Given the description of an element on the screen output the (x, y) to click on. 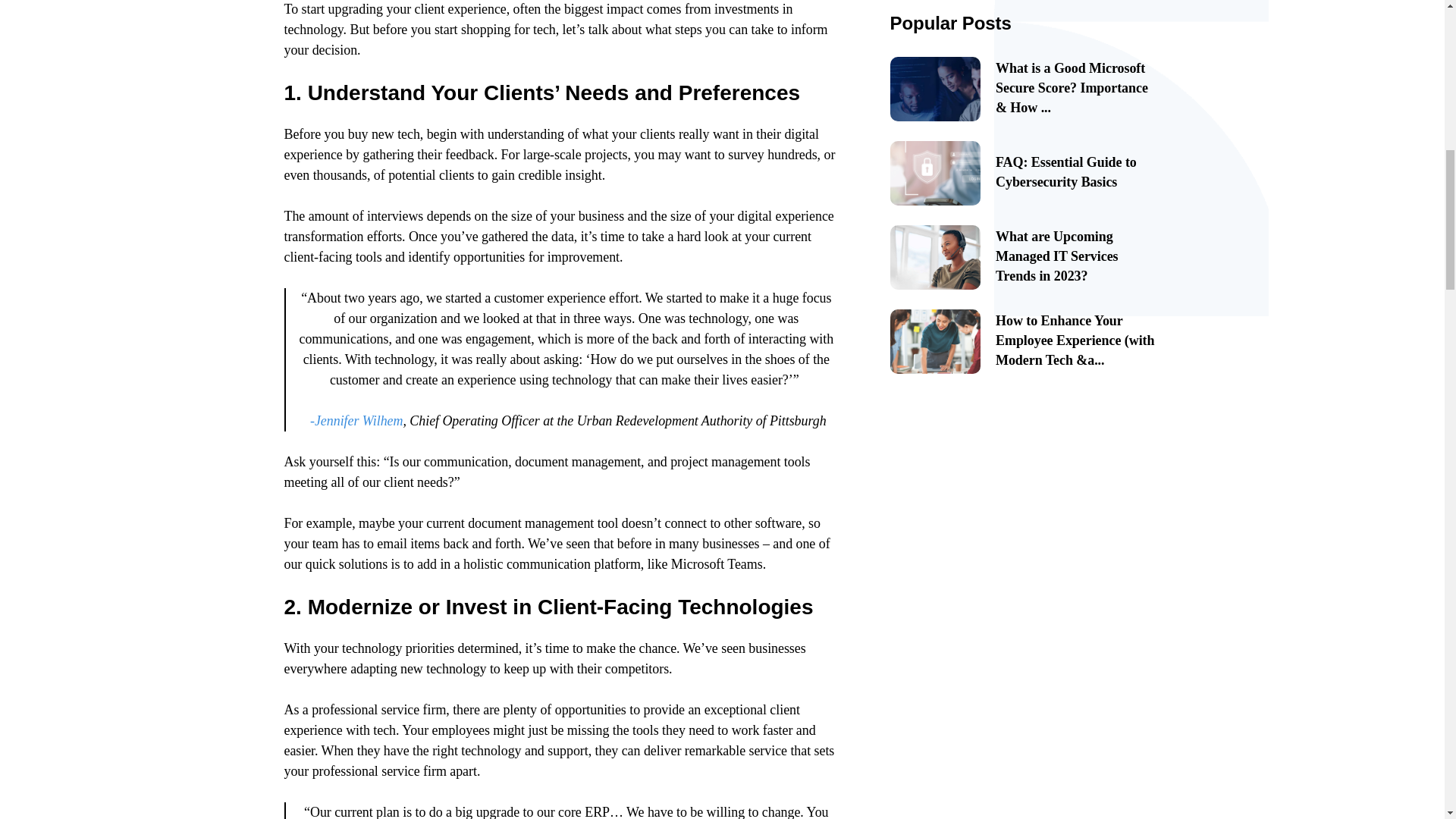
-Jennifer Wilhem (356, 420)
